Given the description of an element on the screen output the (x, y) to click on. 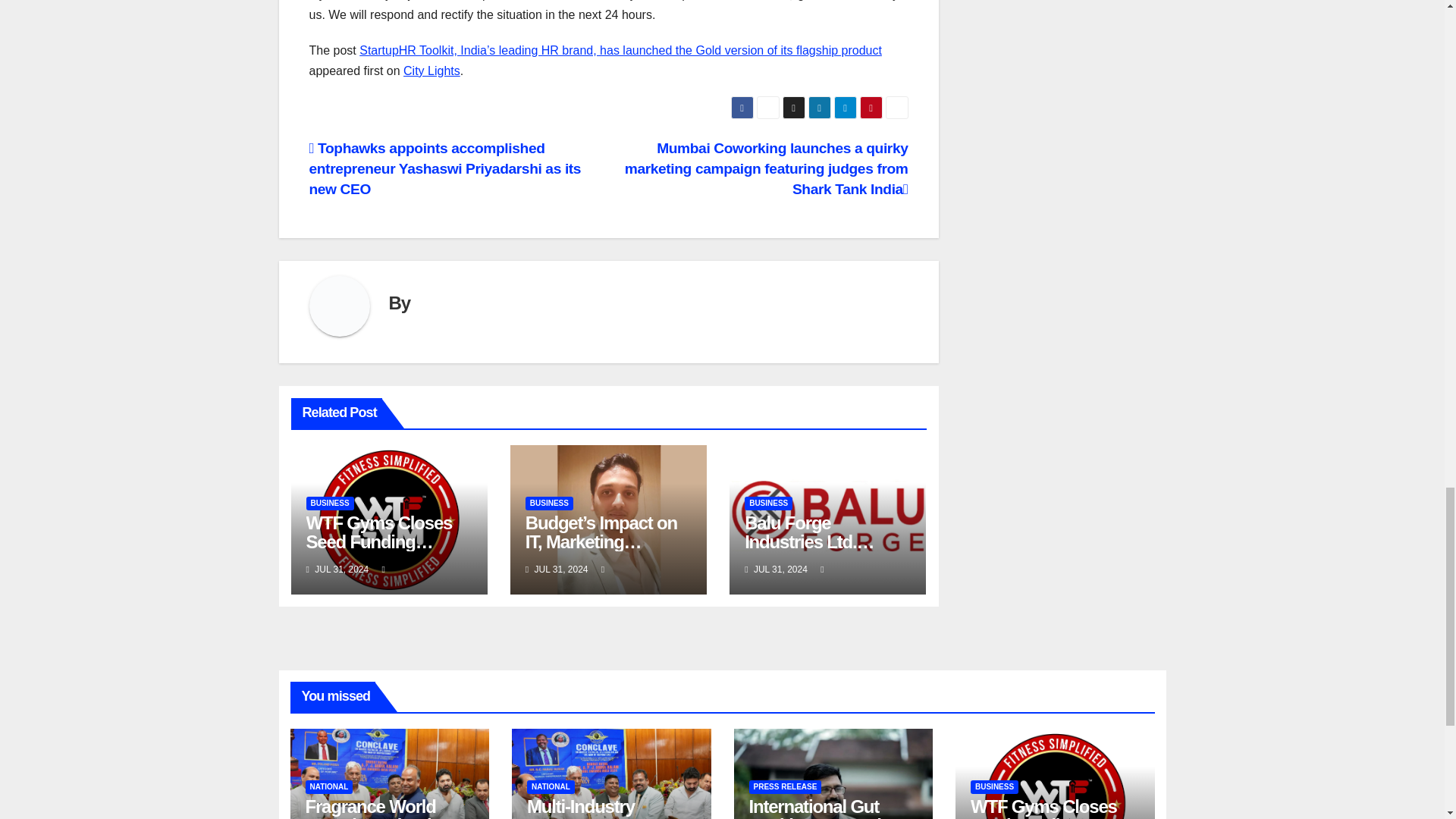
BUSINESS (329, 503)
BUSINESS (549, 503)
City Lights (431, 70)
